Given the description of an element on the screen output the (x, y) to click on. 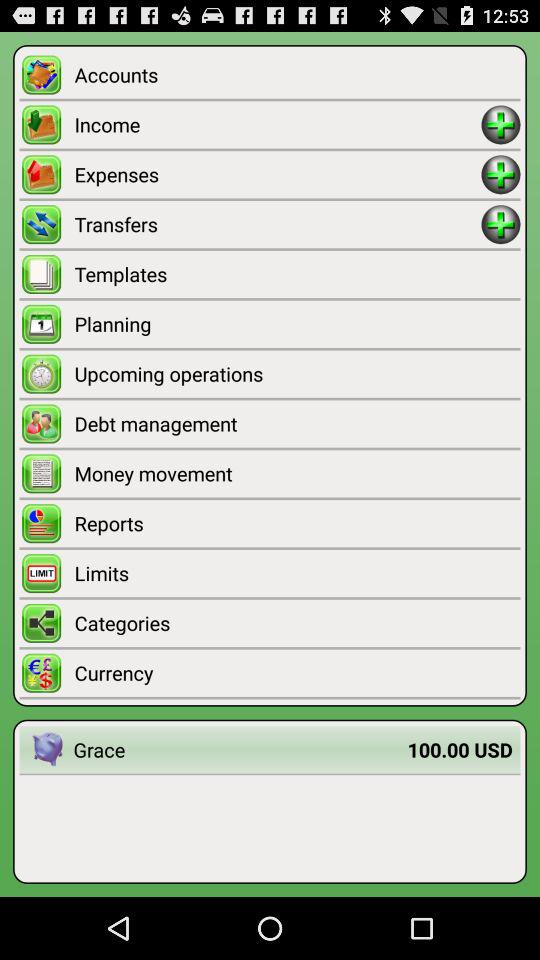
flip until categories icon (297, 622)
